Given the description of an element on the screen output the (x, y) to click on. 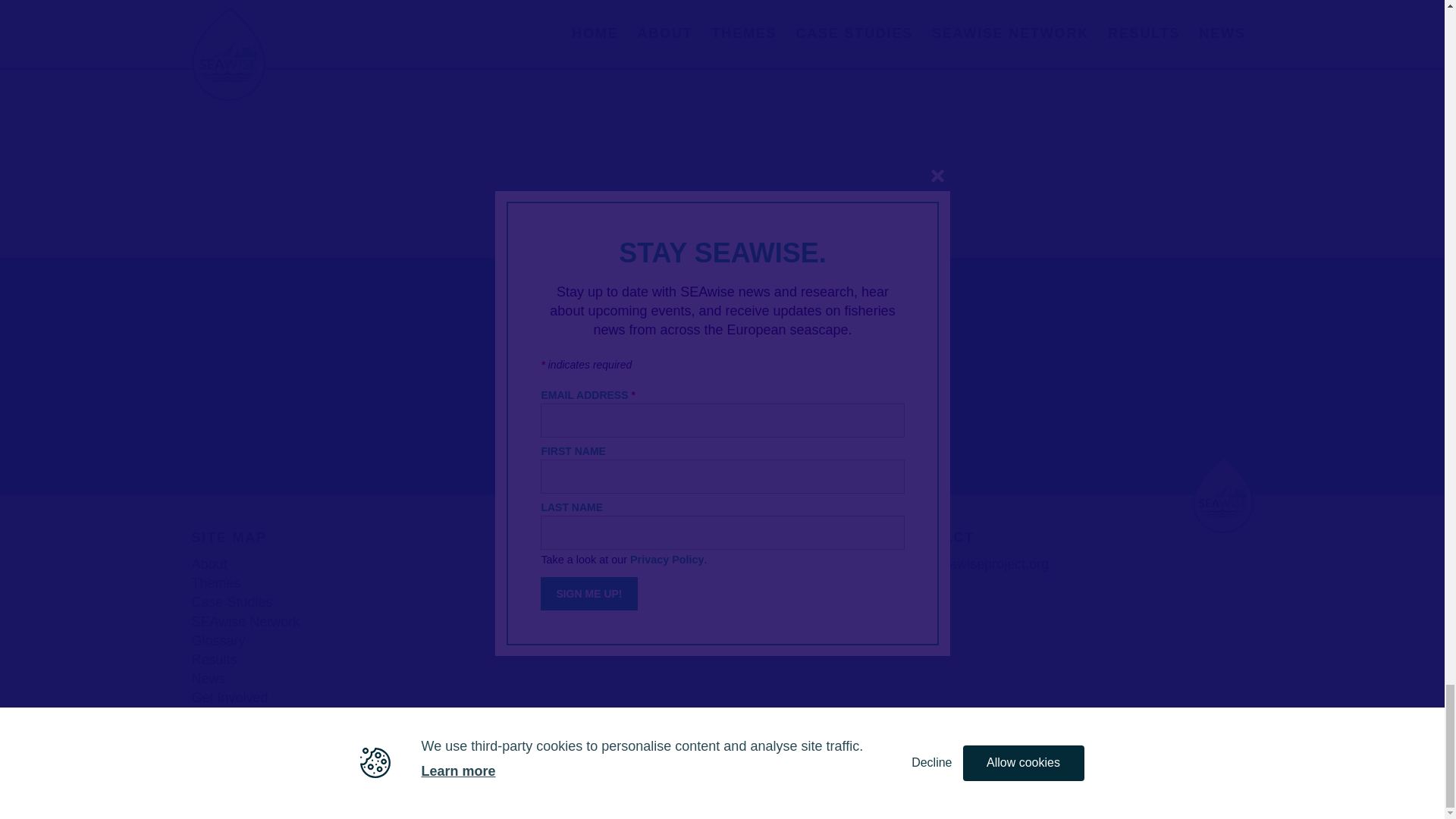
Results (212, 659)
Website for Mindfully Wired Communications (1072, 779)
SEAwise Network (244, 621)
About (208, 563)
Mindfully Wired (1072, 779)
Glossary (217, 640)
Case Studies (231, 601)
Read here (576, 563)
Twitter (908, 595)
Email SEAwise (973, 563)
News (207, 678)
Themes (215, 582)
LinkedIn (934, 595)
Ben Stones (1219, 779)
Get Involved (228, 697)
